Given the description of an element on the screen output the (x, y) to click on. 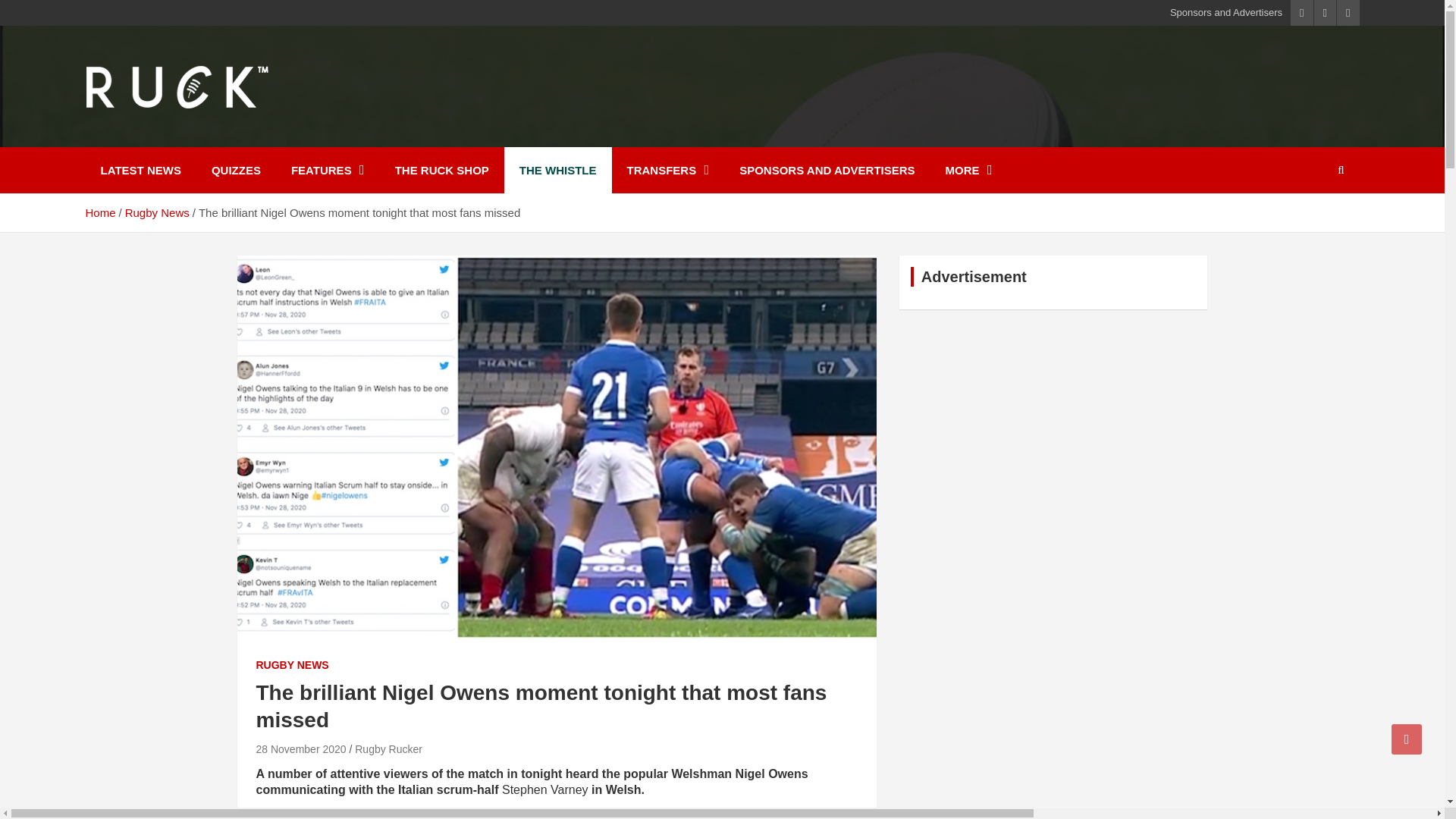
28 November 2020 (301, 748)
Sponsors and Advertisers (1226, 12)
SPONSORS AND ADVERTISERS (826, 170)
Rugby Rucker (388, 748)
LATEST NEWS (139, 170)
Rugby News (157, 212)
Ruck (121, 136)
FEATURES (328, 170)
THE RUCK SHOP (441, 170)
